Given the description of an element on the screen output the (x, y) to click on. 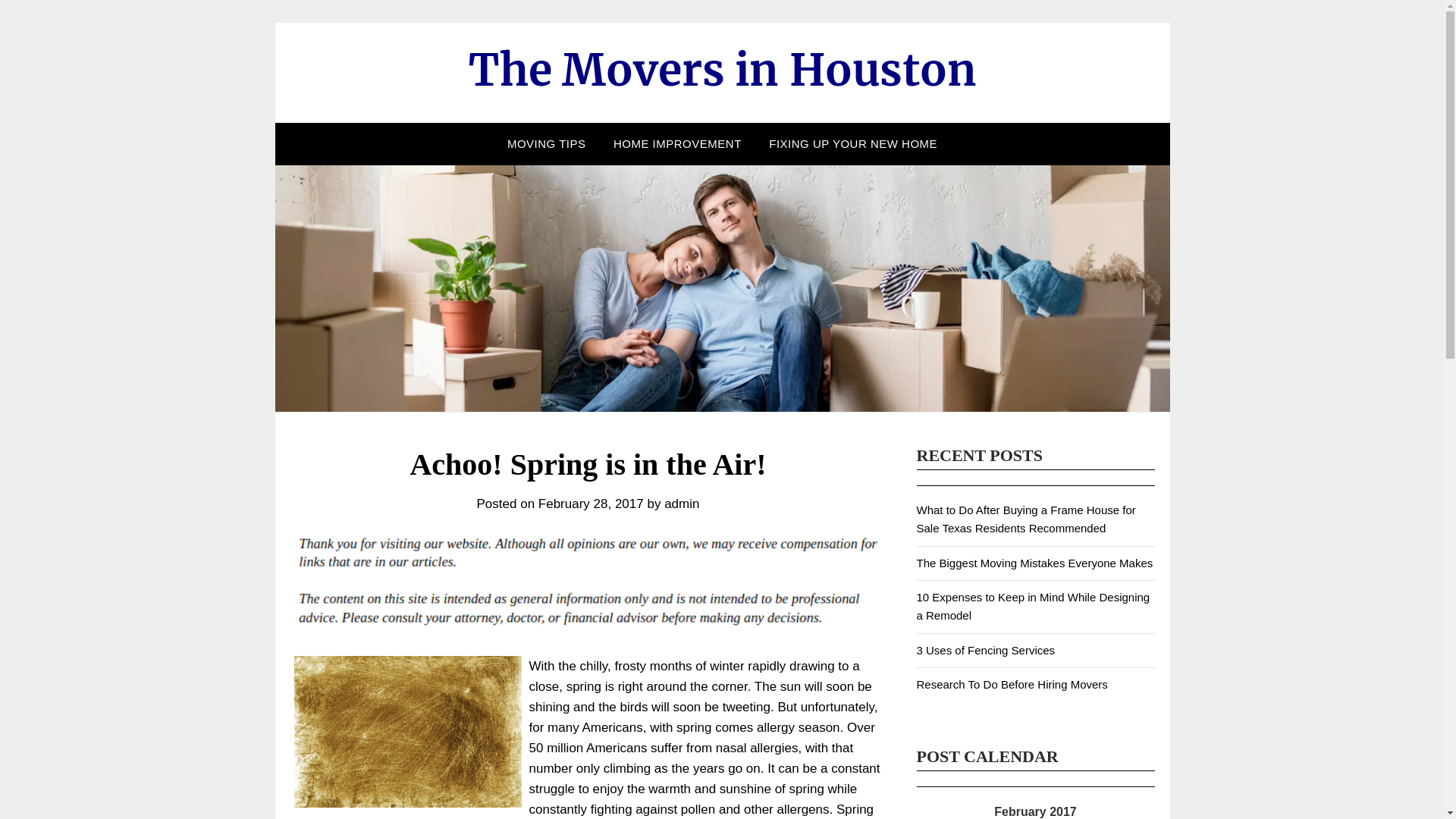
10 Expenses to Keep in Mind While Designing a Remodel (1032, 605)
HOME IMPROVEMENT (677, 143)
3 Uses of Fencing Services (984, 649)
MOVING TIPS (546, 143)
The Biggest Moving Mistakes Everyone Makes (1034, 562)
FIXING UP YOUR NEW HOME (853, 143)
admin (680, 503)
Research To Do Before Hiring Movers (1010, 684)
February 28, 2017 (590, 503)
